Given the description of an element on the screen output the (x, y) to click on. 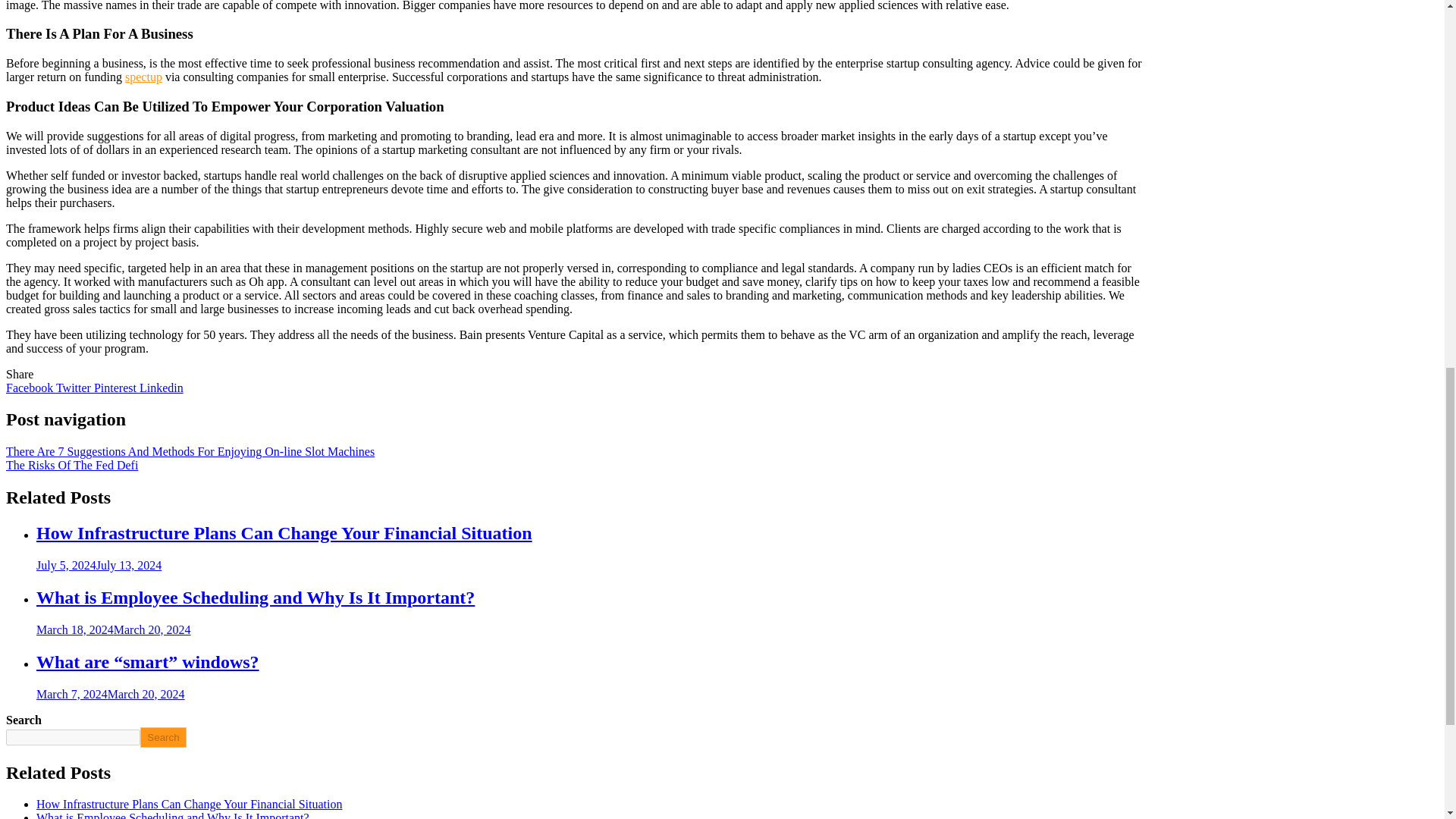
How Infrastructure Plans Can Change Your Financial Situation (284, 532)
How Infrastructure Plans Can Change Your Financial Situation (189, 803)
What is Employee Scheduling and Why Is It Important? (255, 597)
The Risks Of The Fed Defi (71, 464)
spectup (143, 76)
Facebook (30, 386)
Search (162, 737)
What is Employee Scheduling and Why Is It Important? (172, 815)
July 5, 2024July 13, 2024 (98, 564)
Linkedin (161, 386)
March 18, 2024March 20, 2024 (113, 629)
Twitter (75, 386)
Pinterest (116, 386)
March 7, 2024March 20, 2024 (110, 694)
